Given the description of an element on the screen output the (x, y) to click on. 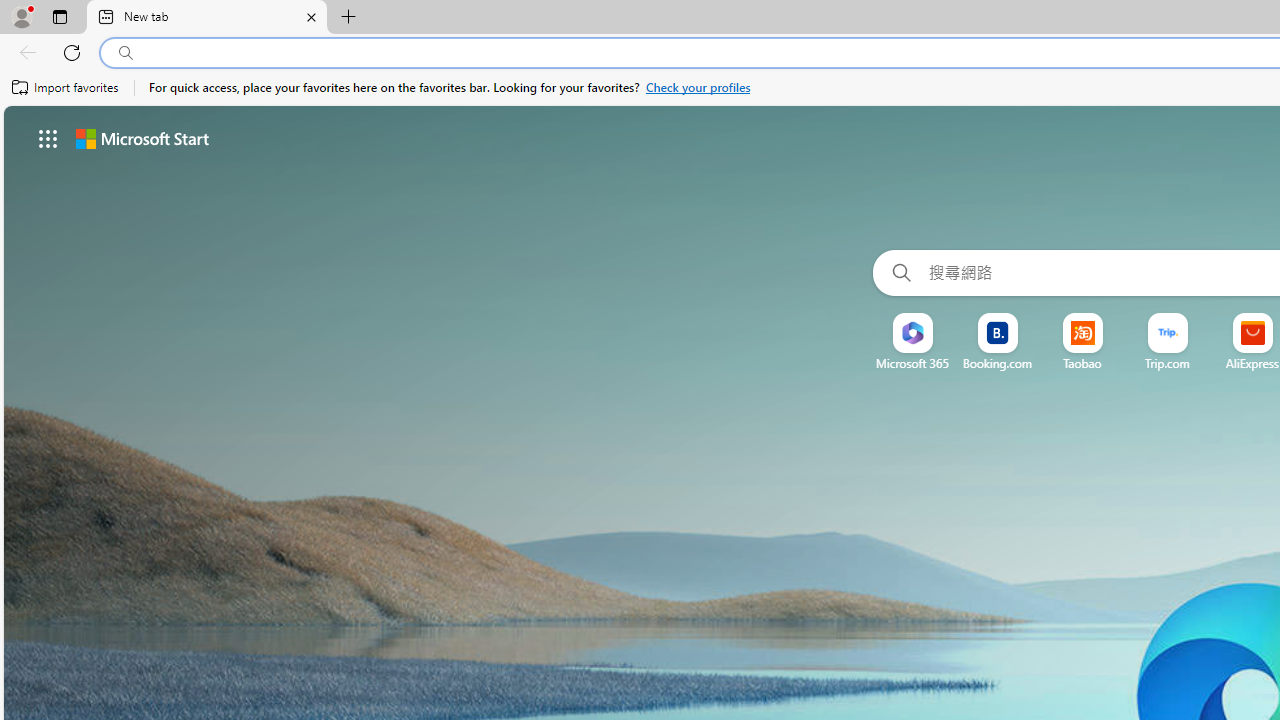
Profile 1 Profile, Please sign in (21, 16)
Taobao (1082, 363)
Booking.com (997, 363)
